Given the description of an element on the screen output the (x, y) to click on. 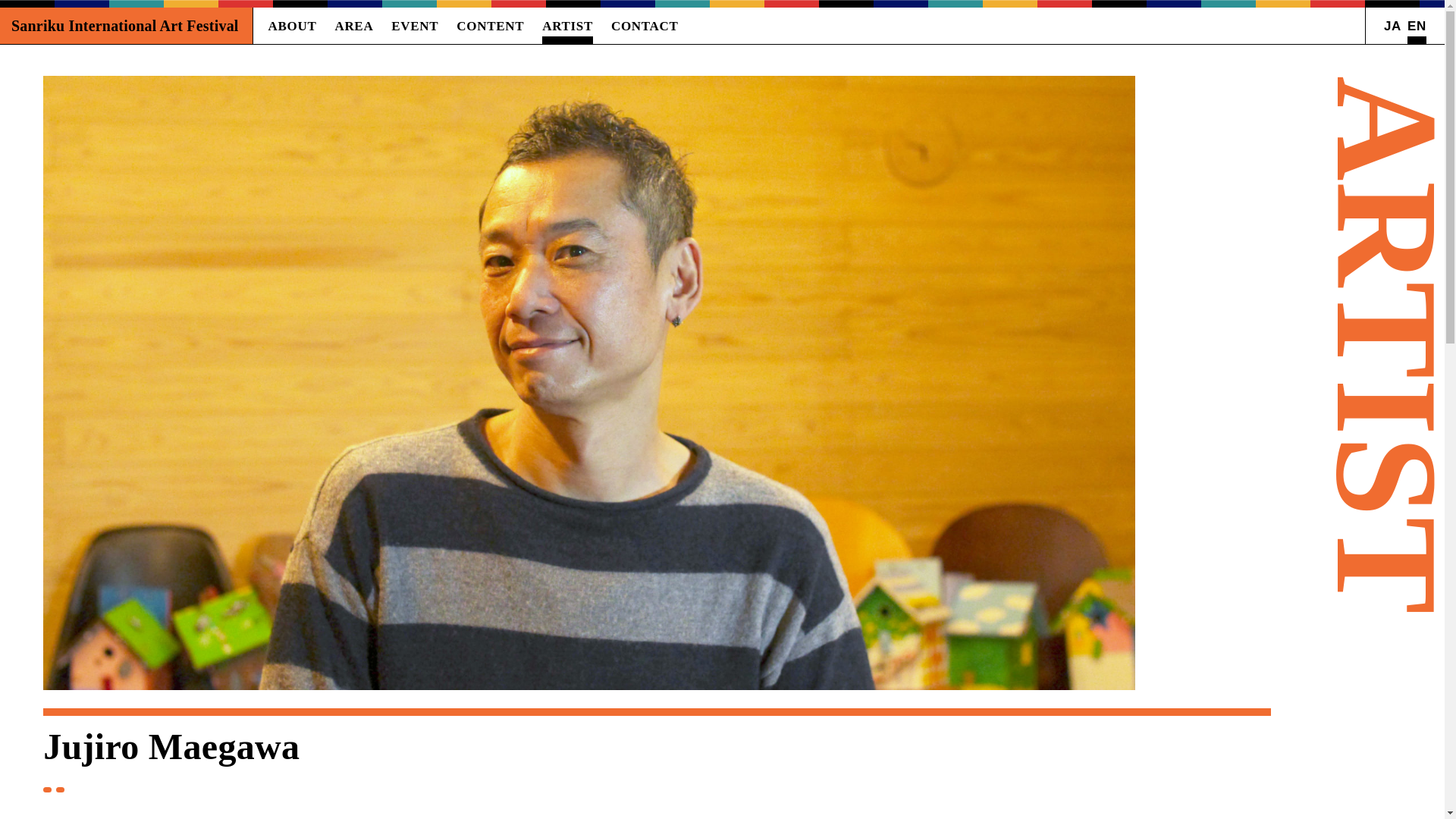
AREA (353, 25)
CONTACT (644, 25)
EVENT (414, 25)
Sanriku International Art Festival (125, 25)
ABOUT (292, 25)
CONTENT (490, 25)
ARTIST (566, 25)
